Given the description of an element on the screen output the (x, y) to click on. 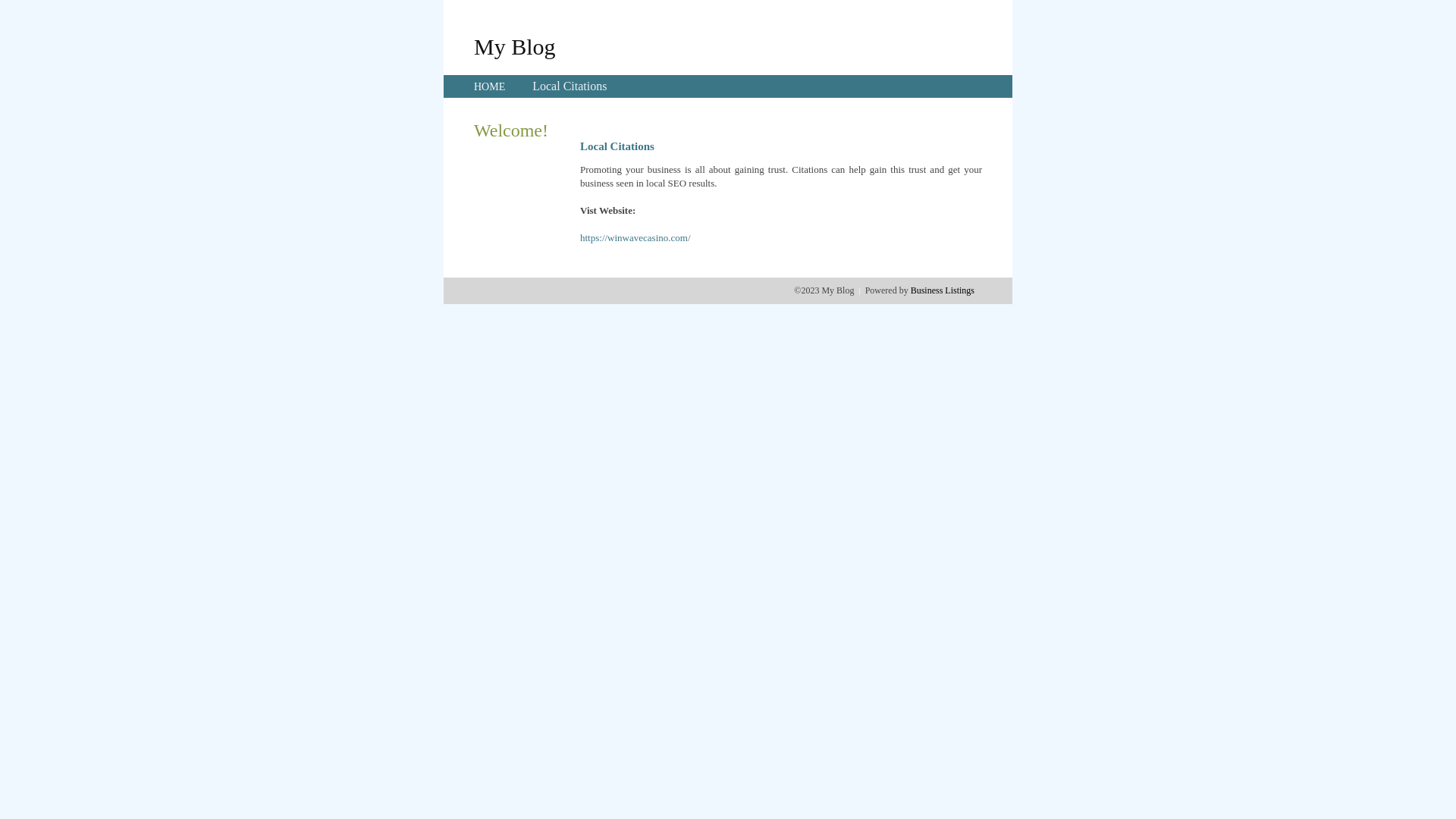
https://winwavecasino.com/ Element type: text (635, 237)
Local Citations Element type: text (569, 85)
Business Listings Element type: text (942, 290)
My Blog Element type: text (514, 46)
HOME Element type: text (489, 86)
